Given the description of an element on the screen output the (x, y) to click on. 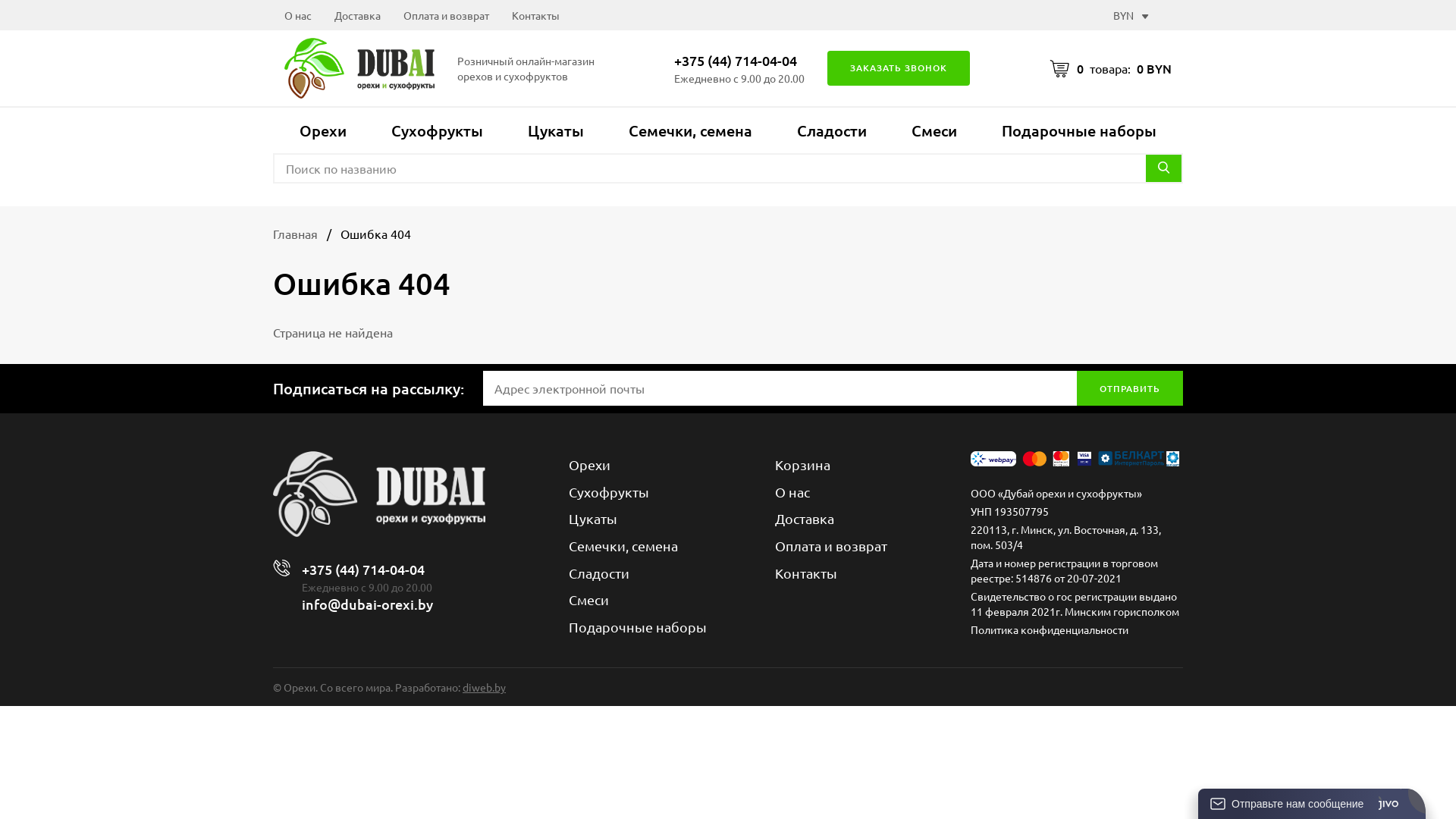
info@dubai-orexi.by Element type: text (367, 604)
+375 (44) 714-04-04 Element type: text (367, 569)
BYN Element type: text (1130, 15)
+375 (44) 714-04-04 Element type: text (739, 60)
diweb.by Element type: text (483, 686)
